Given the description of an element on the screen output the (x, y) to click on. 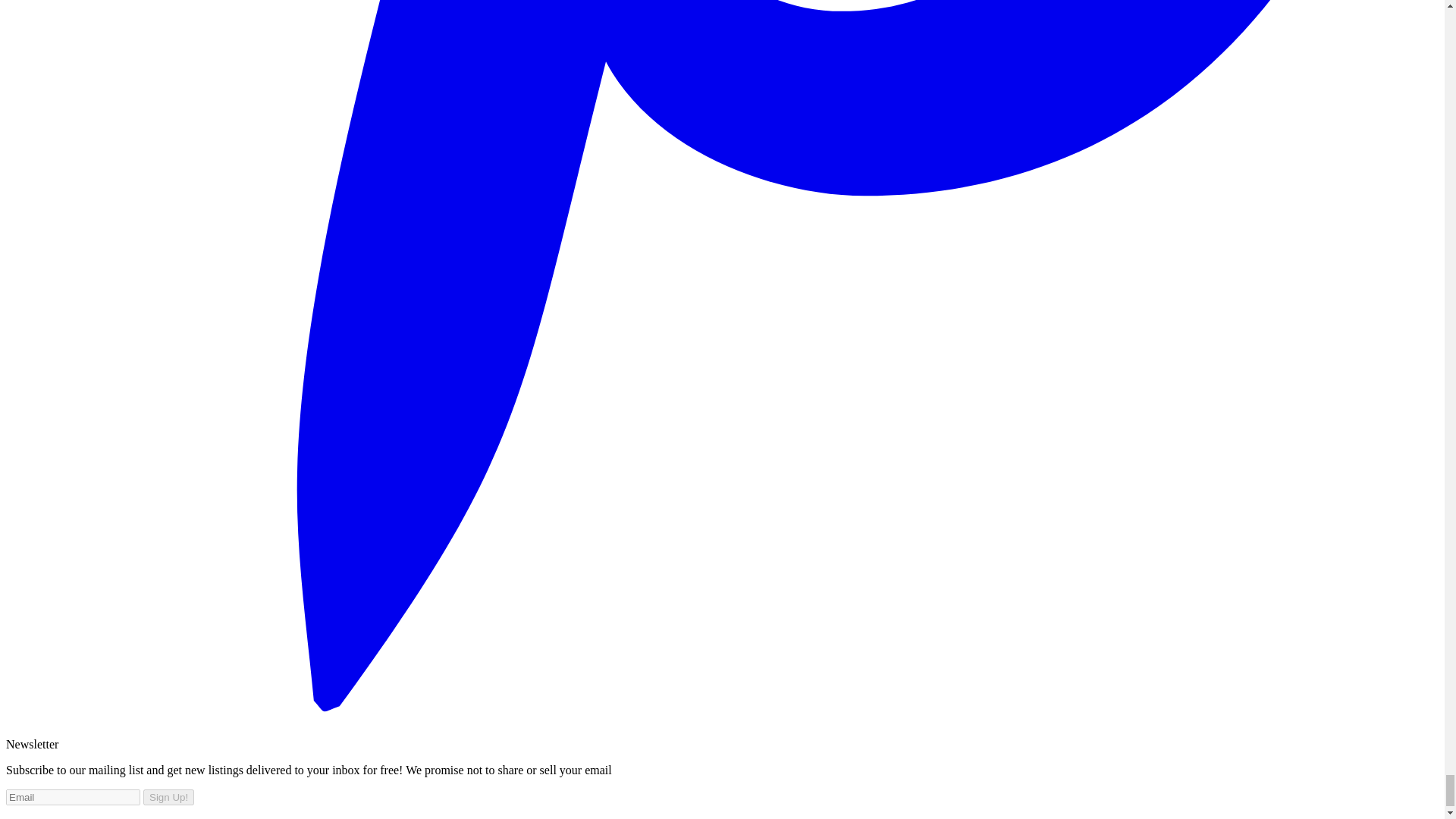
Sign Up! (167, 797)
